Given the description of an element on the screen output the (x, y) to click on. 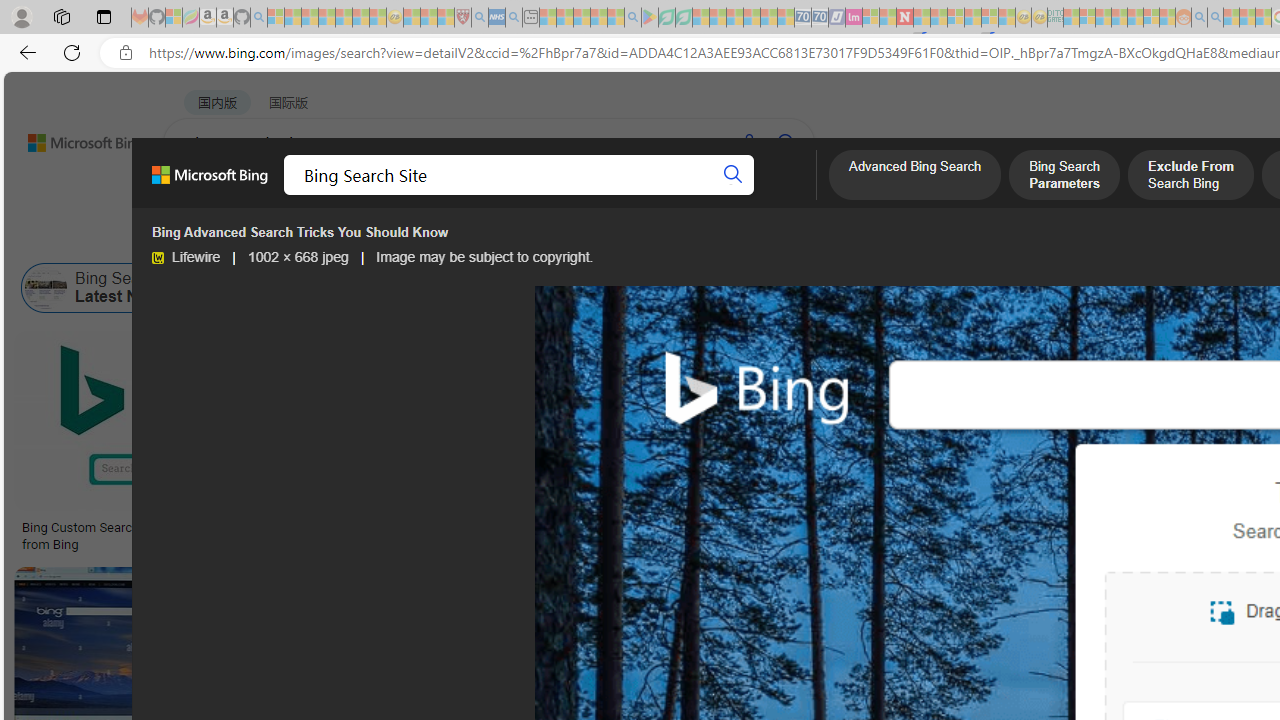
Date (591, 237)
Dropdown Menu (793, 195)
MY BING (276, 195)
Date (591, 237)
Bing Searches Today (438, 287)
Image size (221, 237)
Back to Bing search (73, 138)
Bing Advanced Search Tricks You Should Know (803, 528)
